Given the description of an element on the screen output the (x, y) to click on. 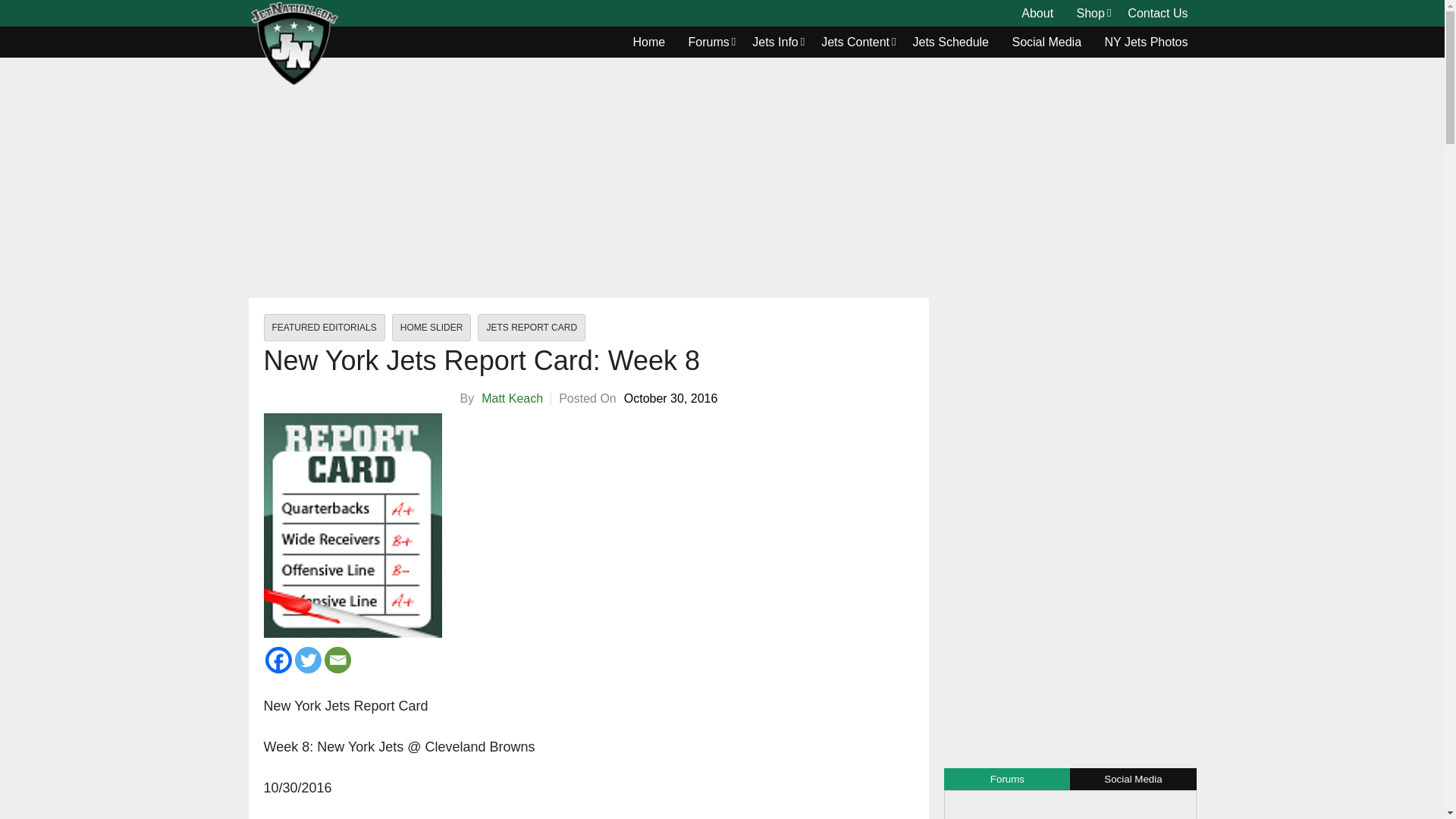
Email (337, 660)
Facebook (278, 660)
2016-10-30 (670, 398)
HOME SLIDER (431, 327)
Matt Keach (512, 398)
Home (649, 41)
Forums (709, 41)
Contact Us (1157, 13)
Shop (1090, 13)
Jets Schedule (950, 41)
